Given the description of an element on the screen output the (x, y) to click on. 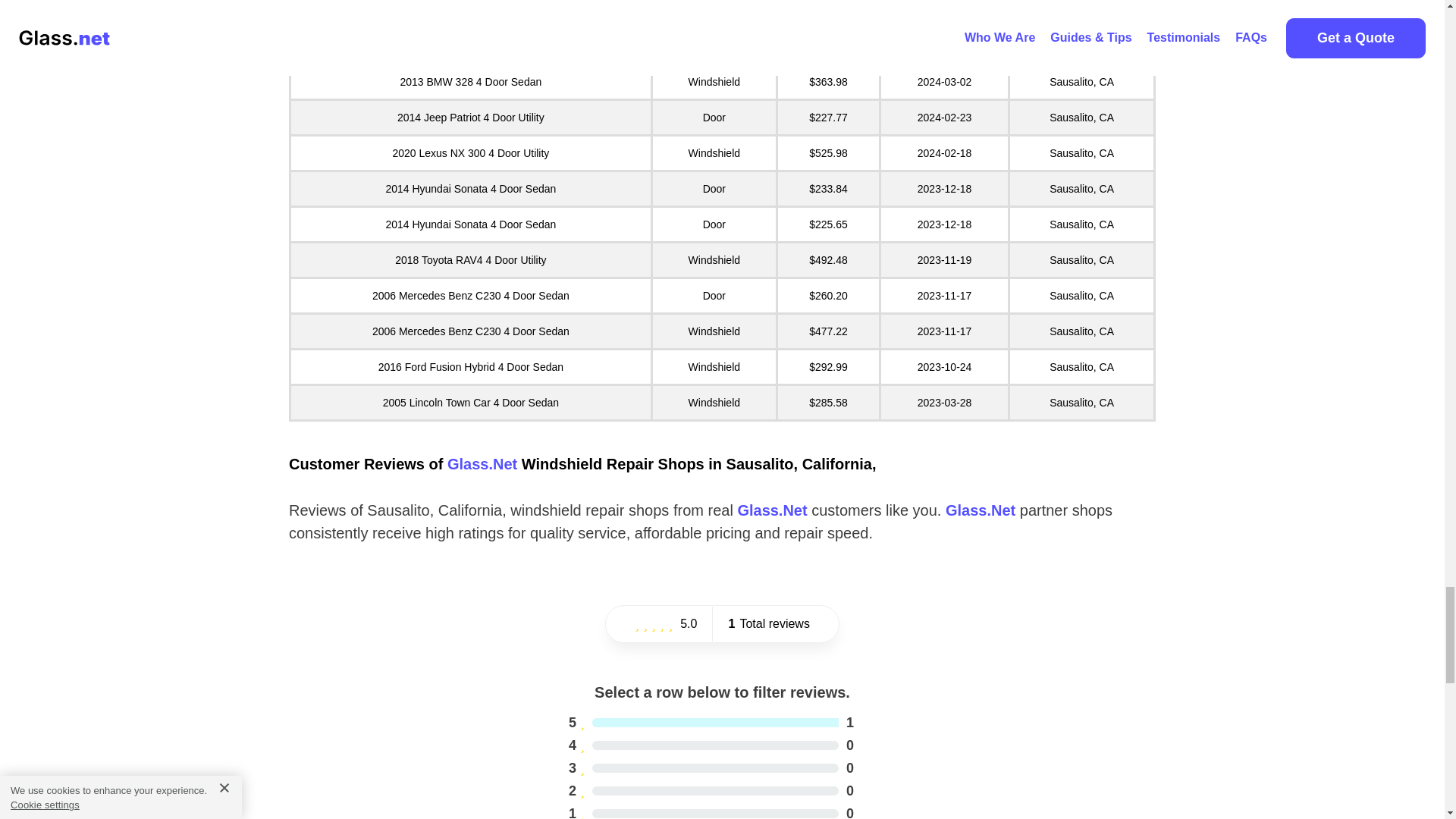
Glass.Net (481, 463)
Glass.Net (711, 722)
Glass.Net (771, 510)
Average windshield repair review (979, 510)
